Given the description of an element on the screen output the (x, y) to click on. 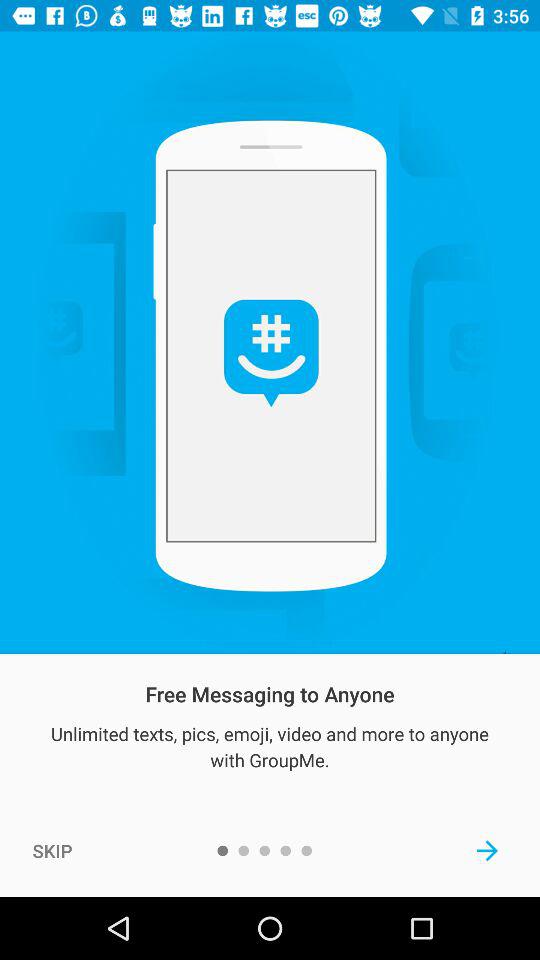
turn off the item below the unlimited texts pics (52, 850)
